Given the description of an element on the screen output the (x, y) to click on. 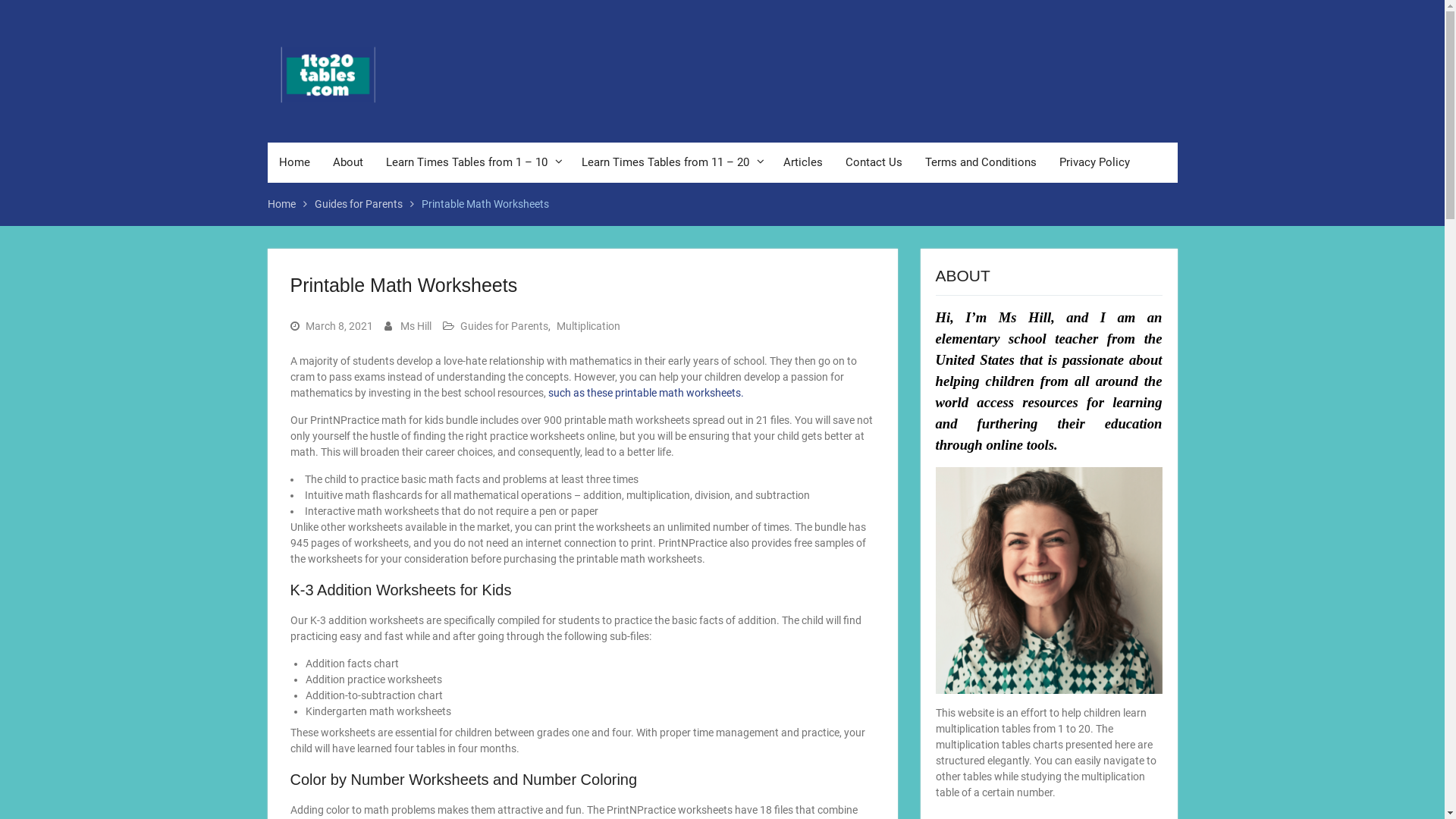
Articles Element type: text (802, 162)
About Element type: text (347, 162)
Guides for Parents Element type: text (503, 326)
Guides for Parents Element type: text (357, 203)
Terms and Conditions Element type: text (980, 162)
Multiplication Element type: text (588, 326)
Ms Hill Element type: text (415, 326)
March 8, 2021 Element type: text (338, 326)
Home Element type: text (293, 162)
Contact Us Element type: text (873, 162)
Home Element type: text (280, 203)
Privacy Policy Element type: text (1094, 162)
such as these printable math worksheets. Element type: text (645, 392)
